Given the description of an element on the screen output the (x, y) to click on. 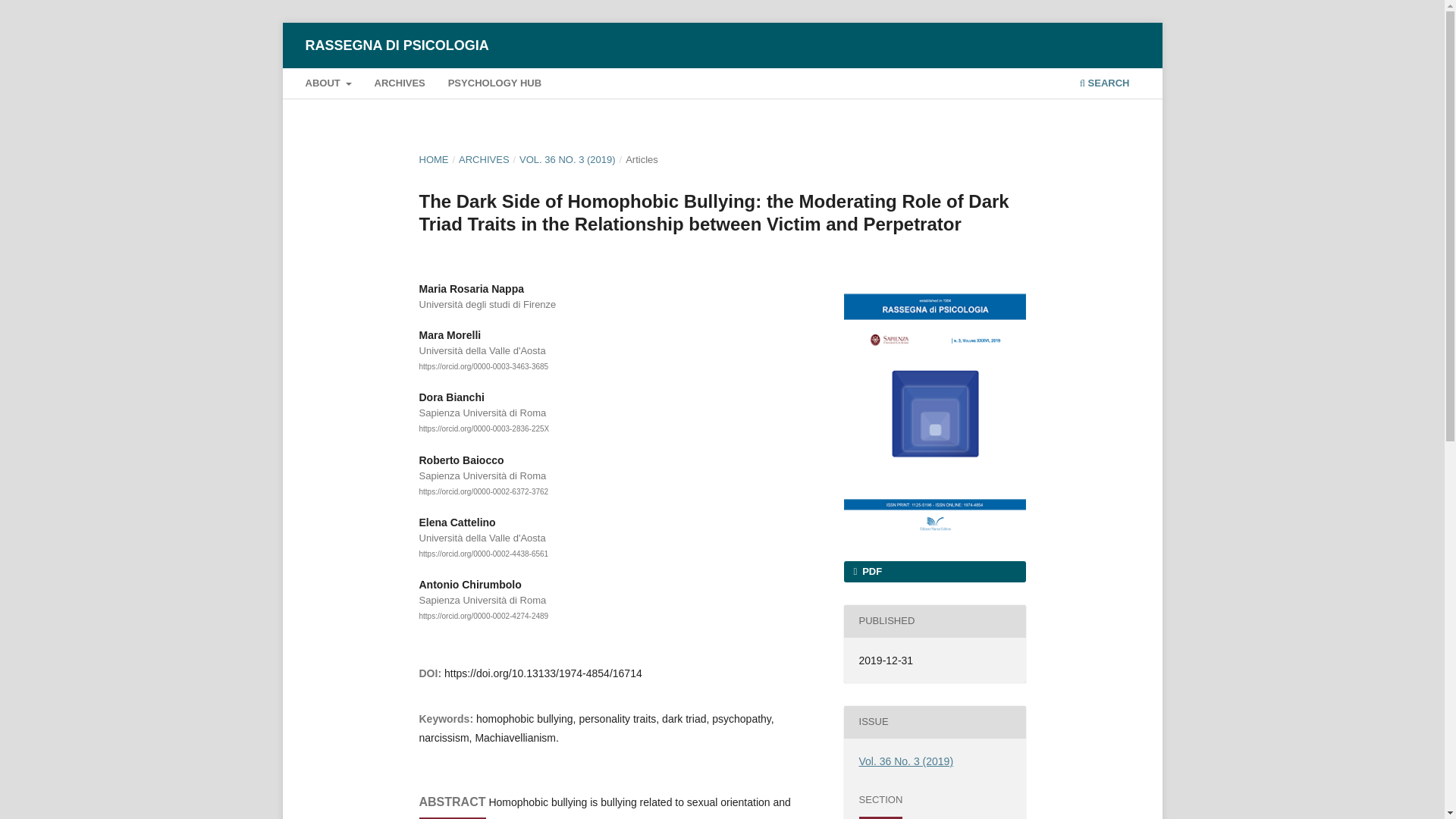
ARCHIVES (399, 85)
SEARCH (1104, 85)
ARCHIVES (483, 159)
PDF (934, 571)
ABOUT (327, 85)
RASSEGNA DI PSICOLOGIA (395, 45)
PSYCHOLOGY HUB (494, 85)
HOME (433, 159)
